Given the description of an element on the screen output the (x, y) to click on. 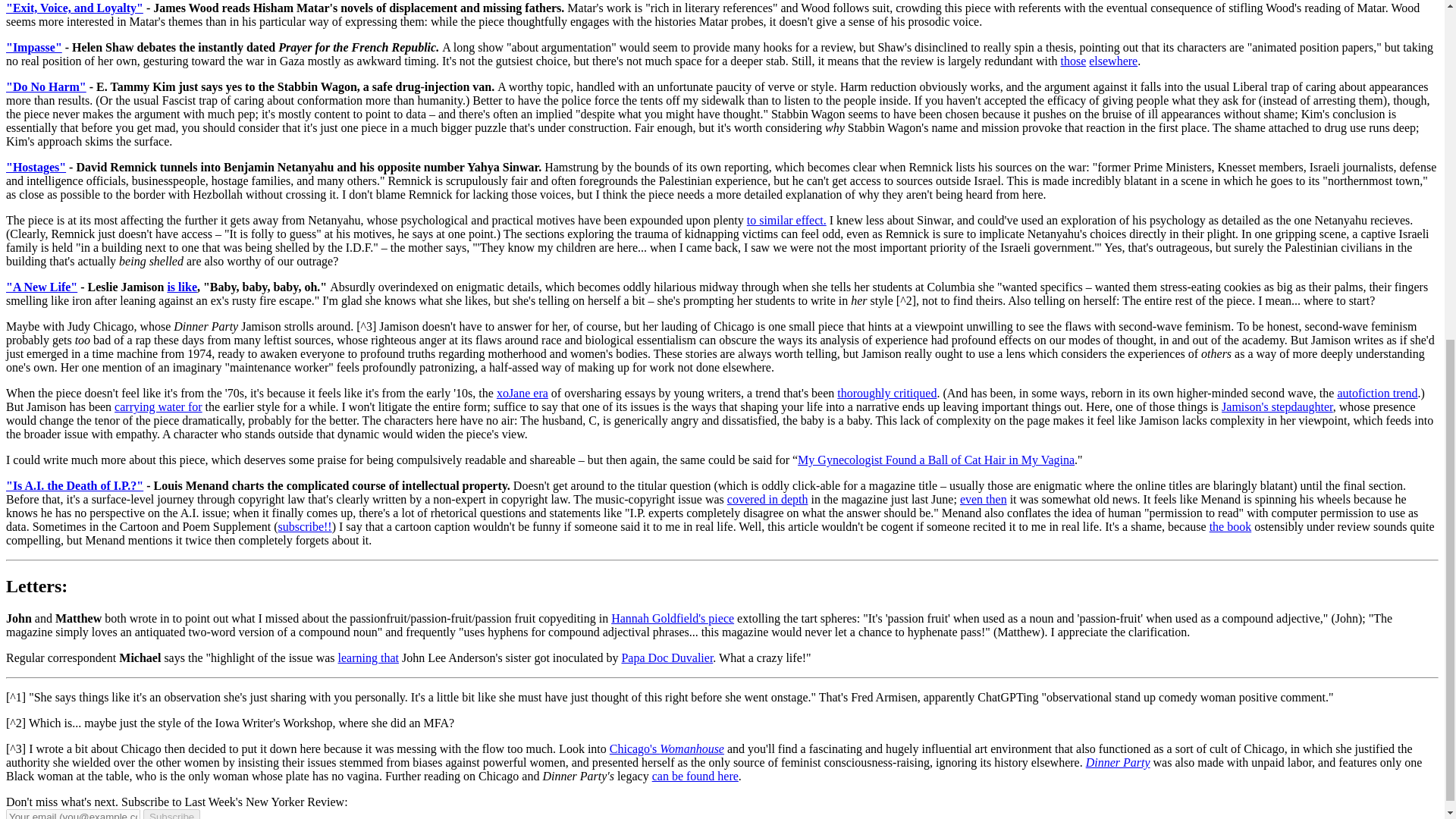
Jamison's stepdaughter (1277, 406)
subscribe!! (304, 526)
even then (983, 499)
My Gynecologist Found a Ball of Cat Hair in My Vagina (935, 459)
learning that (367, 657)
Hannah Goldfield's piece (672, 617)
pth (800, 499)
Papa Doc Duvalier (667, 657)
covered in de (759, 499)
carrying water for (158, 406)
